Given the description of an element on the screen output the (x, y) to click on. 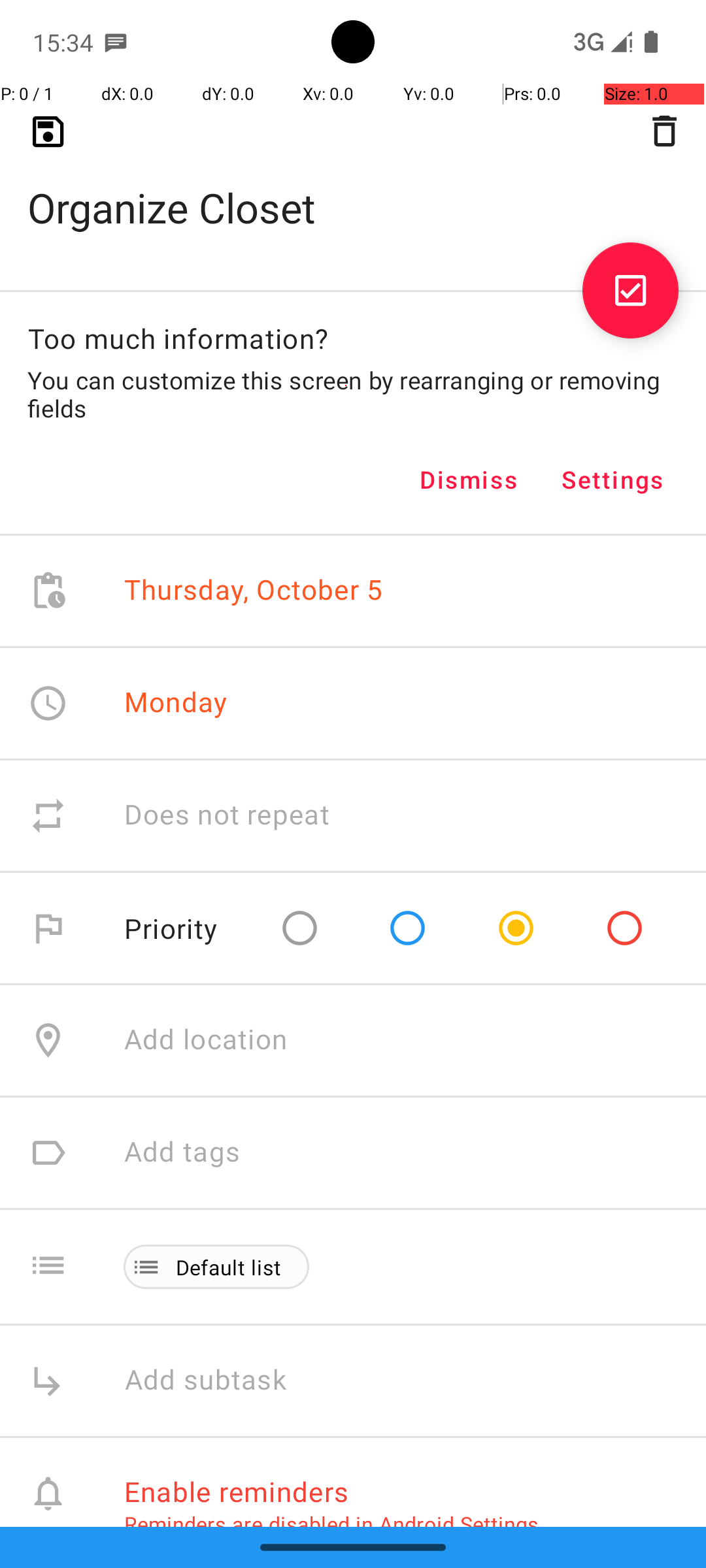
Organize Closet Element type: android.widget.EditText (353, 186)
Delete task Element type: android.widget.Button (664, 131)
Too much information? Element type: android.widget.TextView (178, 337)
You can customize this screen by rearranging or removing fields Element type: android.widget.TextView (352, 393)
Dismiss Element type: android.widget.TextView (468, 479)
Default list Element type: android.widget.TextView (228, 1267)
Thursday, October 5 Element type: android.widget.TextView (253, 590)
Does not repeat Element type: android.widget.TextView (226, 815)
Add location Element type: android.widget.TextView (205, 1040)
Add tags Element type: android.widget.TextView (182, 1152)
Add subtask Element type: android.widget.TextView (219, 1380)
Enable reminders Element type: android.widget.TextView (236, 1490)
Reminders are disabled in Android Settings Element type: android.widget.TextView (331, 1523)
